Given the description of an element on the screen output the (x, y) to click on. 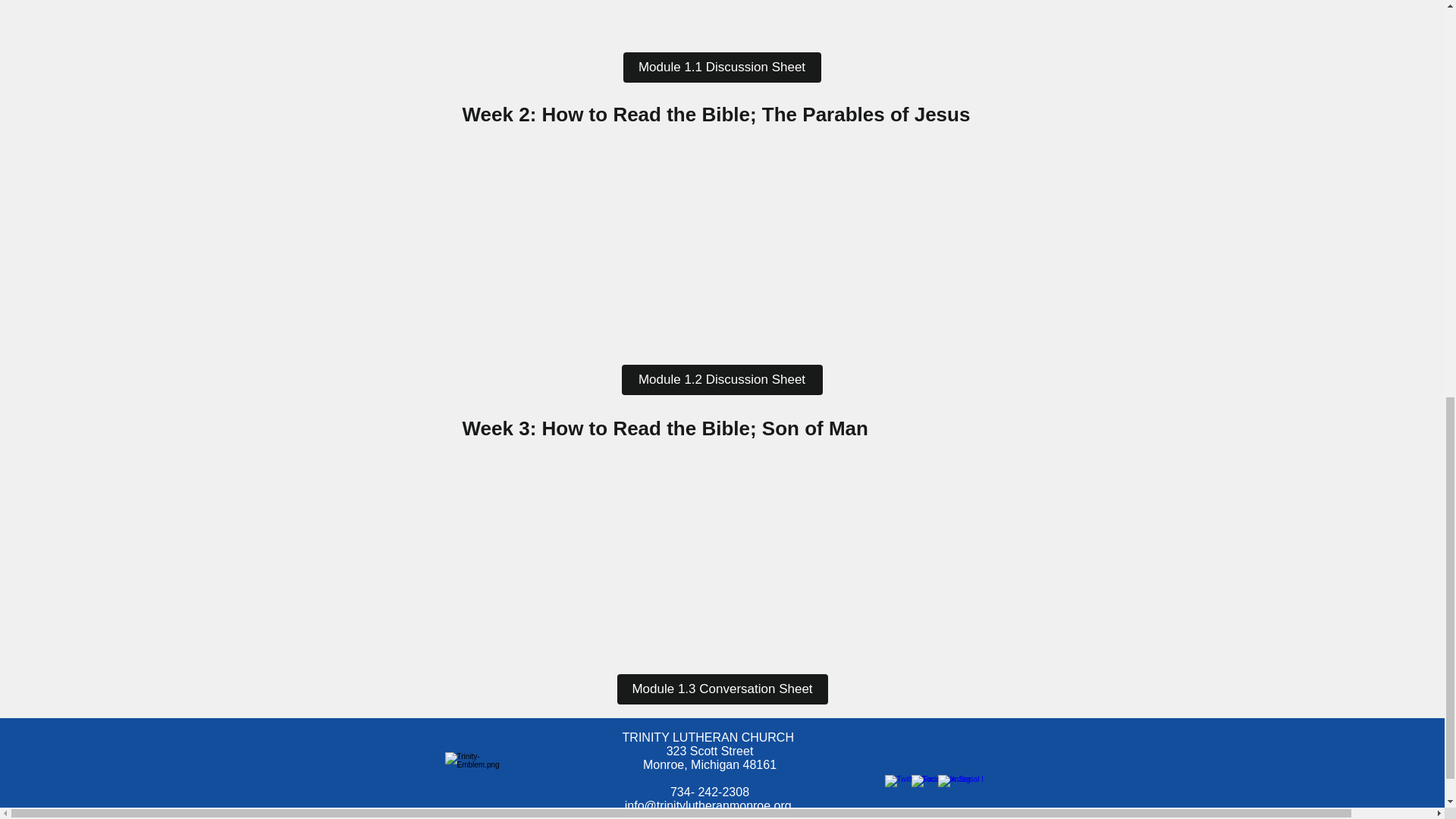
Module 1.3 Conversation Sheet (722, 689)
Module 1.2 Discussion Sheet (721, 379)
Module 1.1 Discussion Sheet (722, 67)
